Given the description of an element on the screen output the (x, y) to click on. 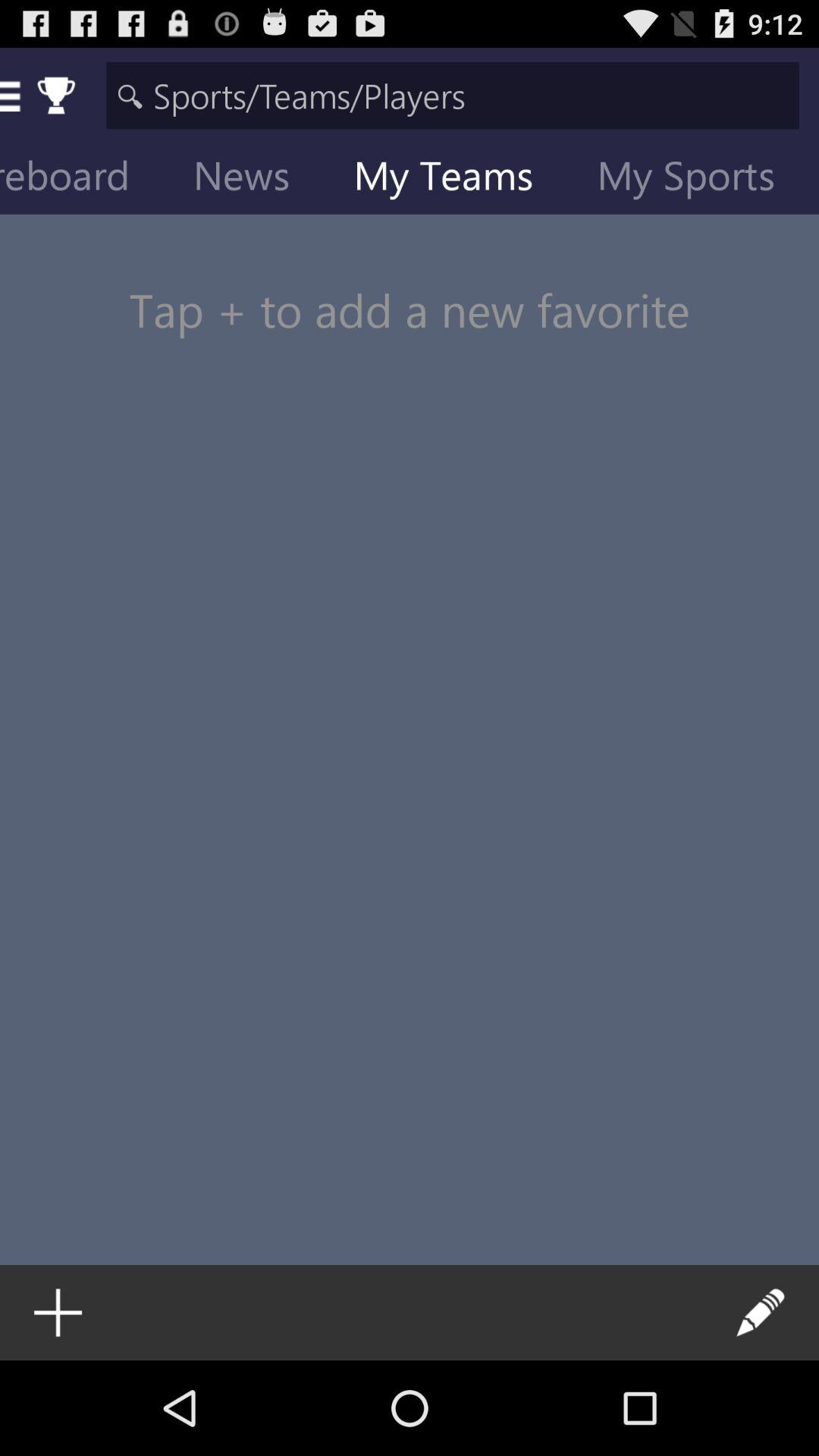
turn off icon above the tap to add icon (698, 178)
